Given the description of an element on the screen output the (x, y) to click on. 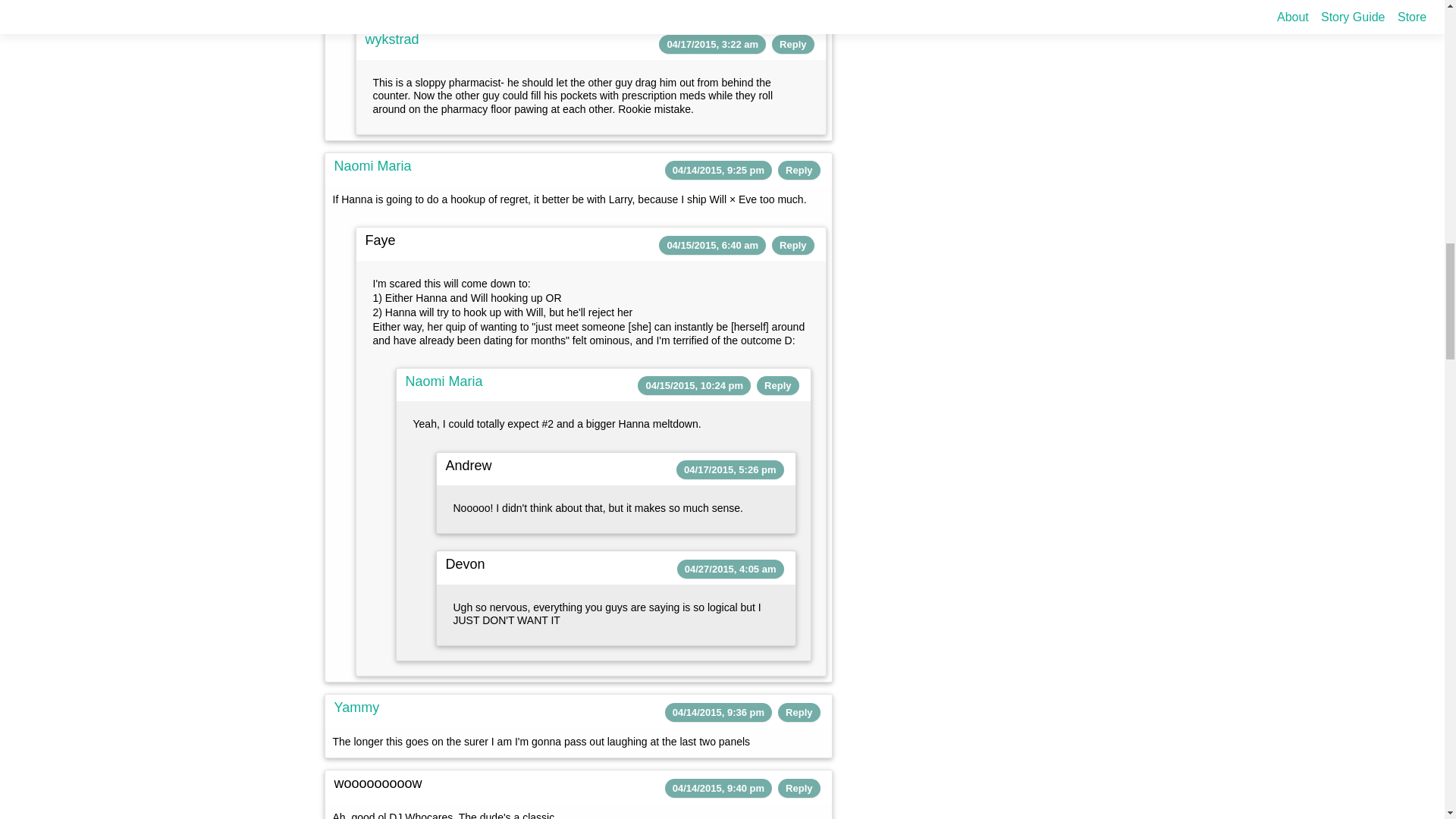
Reply (792, 43)
Reply (799, 170)
Naomi Maria (371, 165)
wykstrad (392, 38)
